Given the description of an element on the screen output the (x, y) to click on. 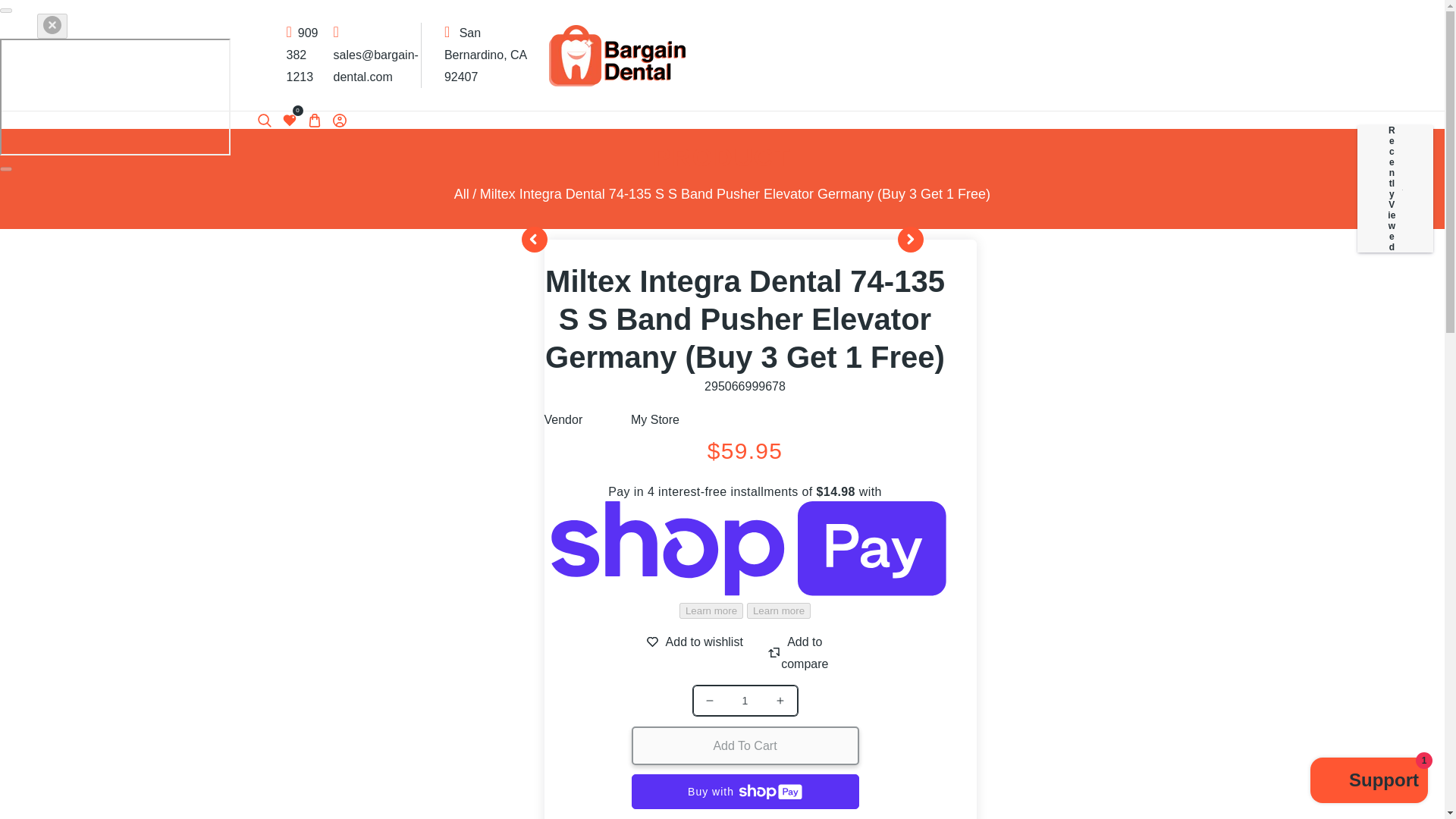
My Store (654, 419)
Skip To Content (21, 18)
San Bernardino, CA 92407 (485, 54)
Shopify online store chat (1369, 781)
1 (744, 700)
